Given the description of an element on the screen output the (x, y) to click on. 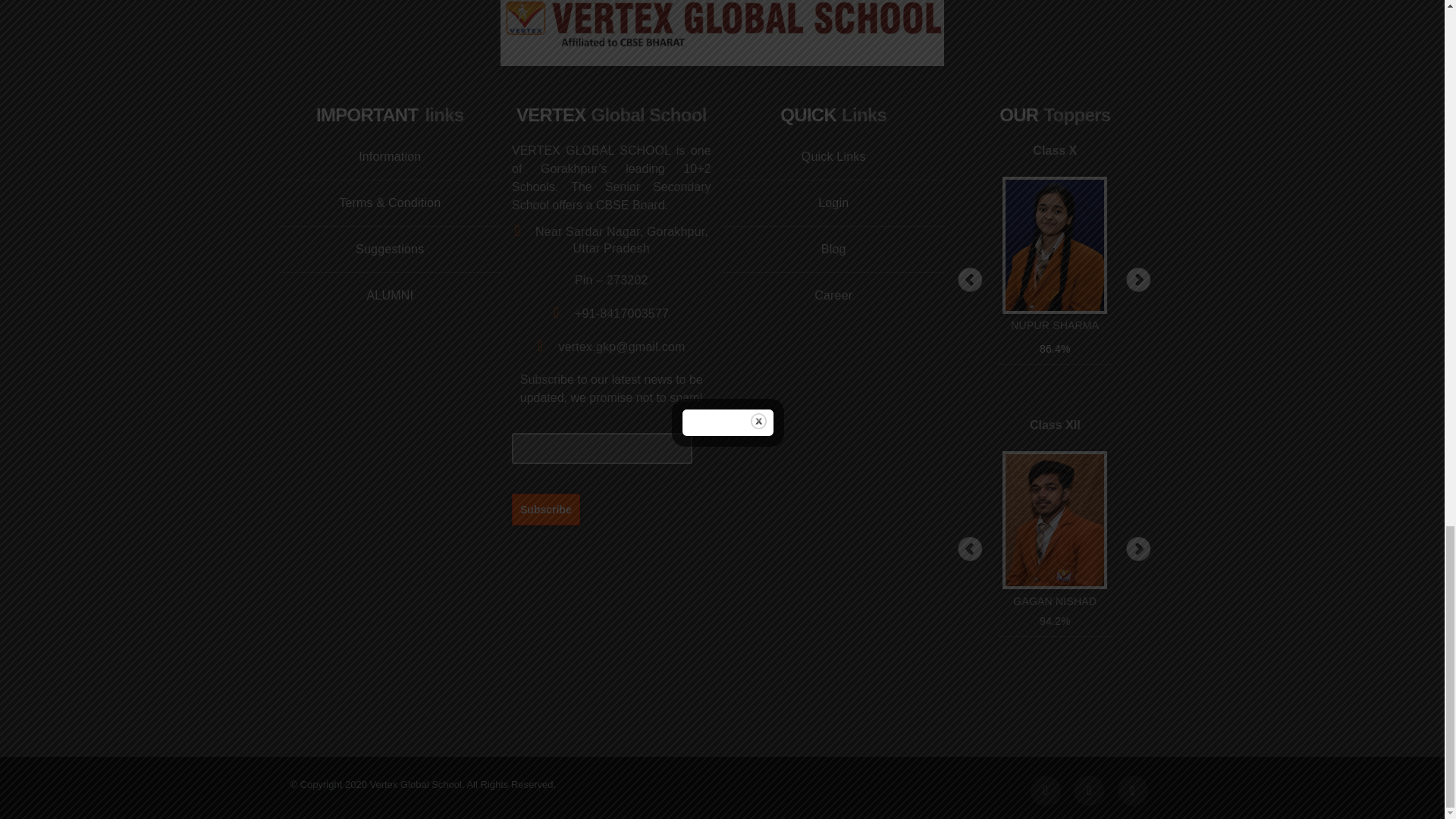
Subscribe (545, 508)
